Given the description of an element on the screen output the (x, y) to click on. 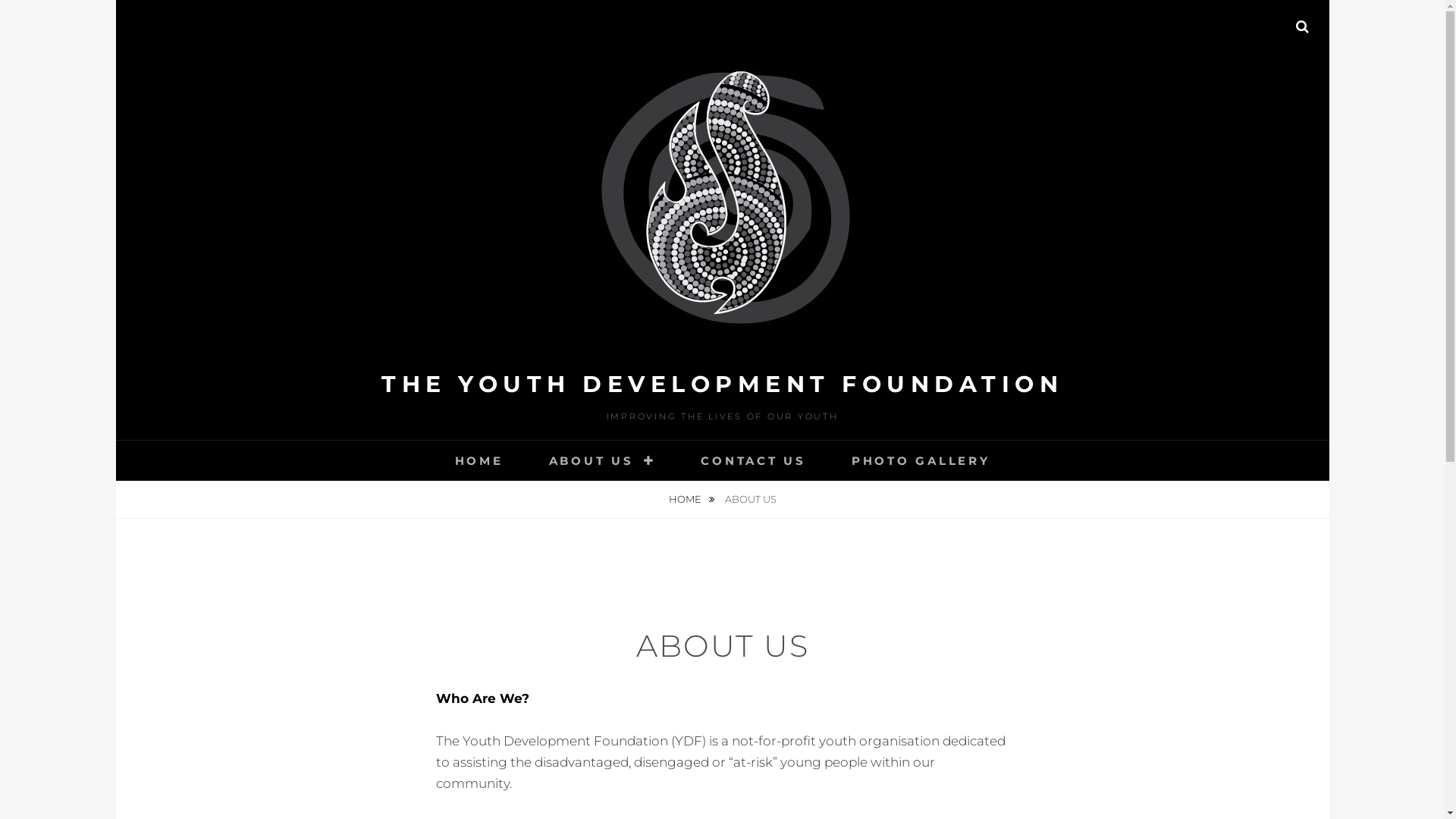
THE YOUTH DEVELOPMENT FOUNDATION Element type: text (722, 384)
ABOUT US Element type: text (602, 460)
CONTACT US Element type: text (753, 460)
PHOTO GALLERY Element type: text (920, 460)
HOME Element type: text (690, 498)
HOME Element type: text (478, 460)
